Given the description of an element on the screen output the (x, y) to click on. 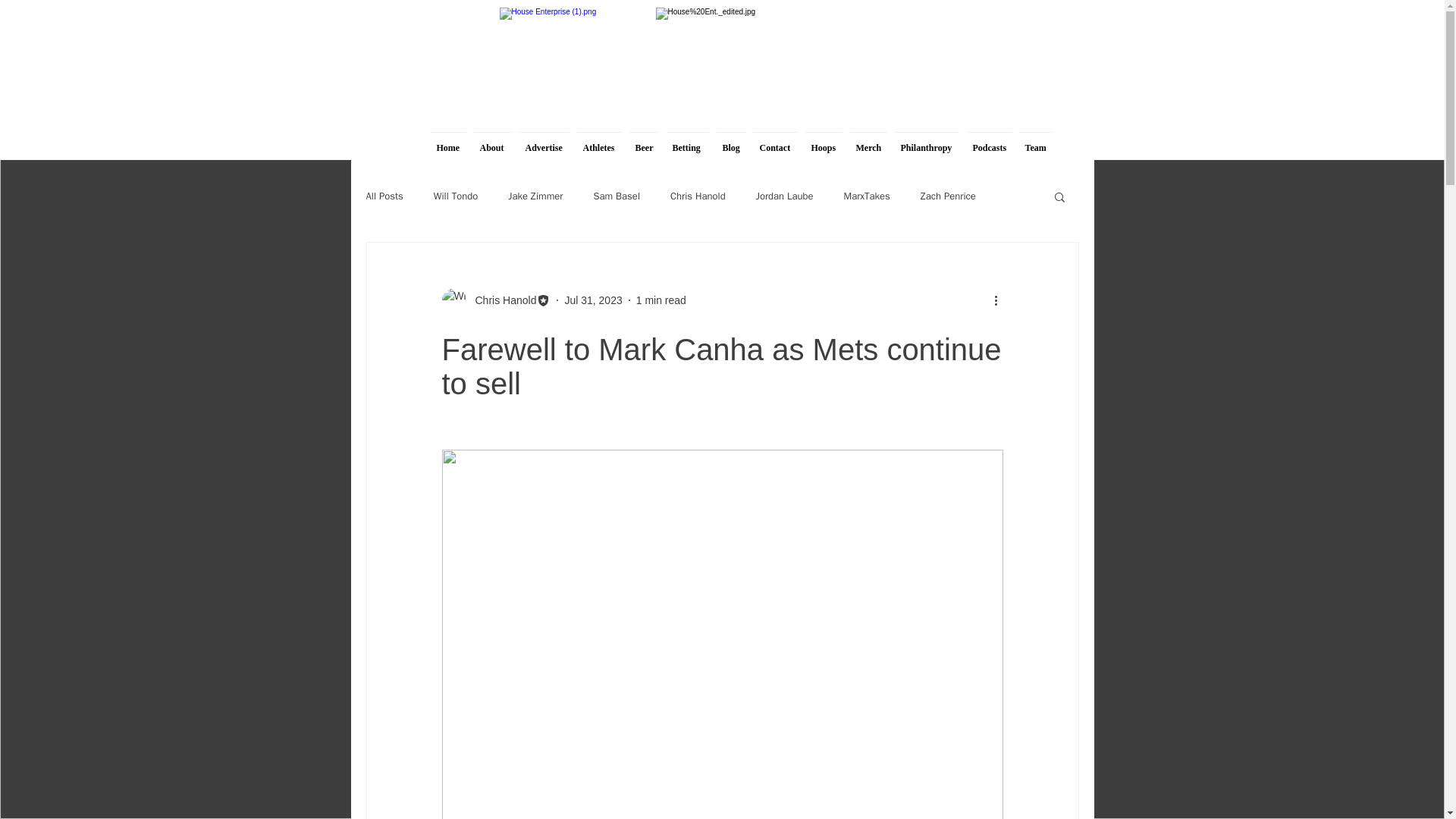
Home (447, 140)
1 min read (660, 300)
Sam Basel (616, 196)
Philanthropy (925, 140)
MarxTakes (866, 196)
Jordan Laube (784, 196)
All Posts (384, 196)
Beer (643, 140)
Advertise (544, 140)
Contact (774, 140)
Merch (868, 140)
Jake Zimmer (535, 196)
Chris Hanold (500, 300)
About (492, 140)
Betting (687, 140)
